Given the description of an element on the screen output the (x, y) to click on. 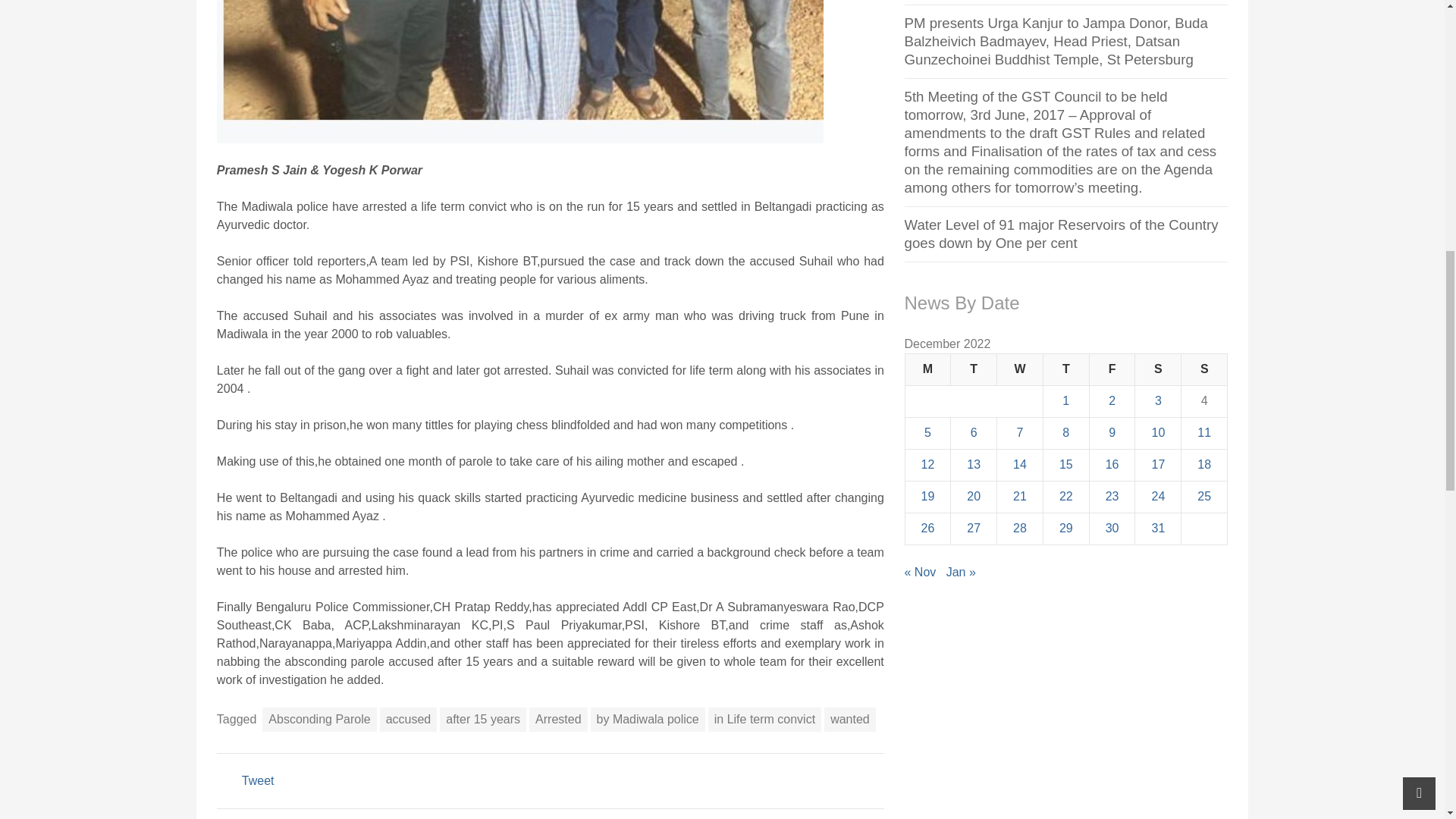
by Madiwala police (647, 719)
Tweet (258, 780)
accused (409, 719)
in Life term convict (764, 719)
Arrested (557, 719)
wanted (850, 719)
after 15 years (482, 719)
Absconding Parole (318, 719)
